Given the description of an element on the screen output the (x, y) to click on. 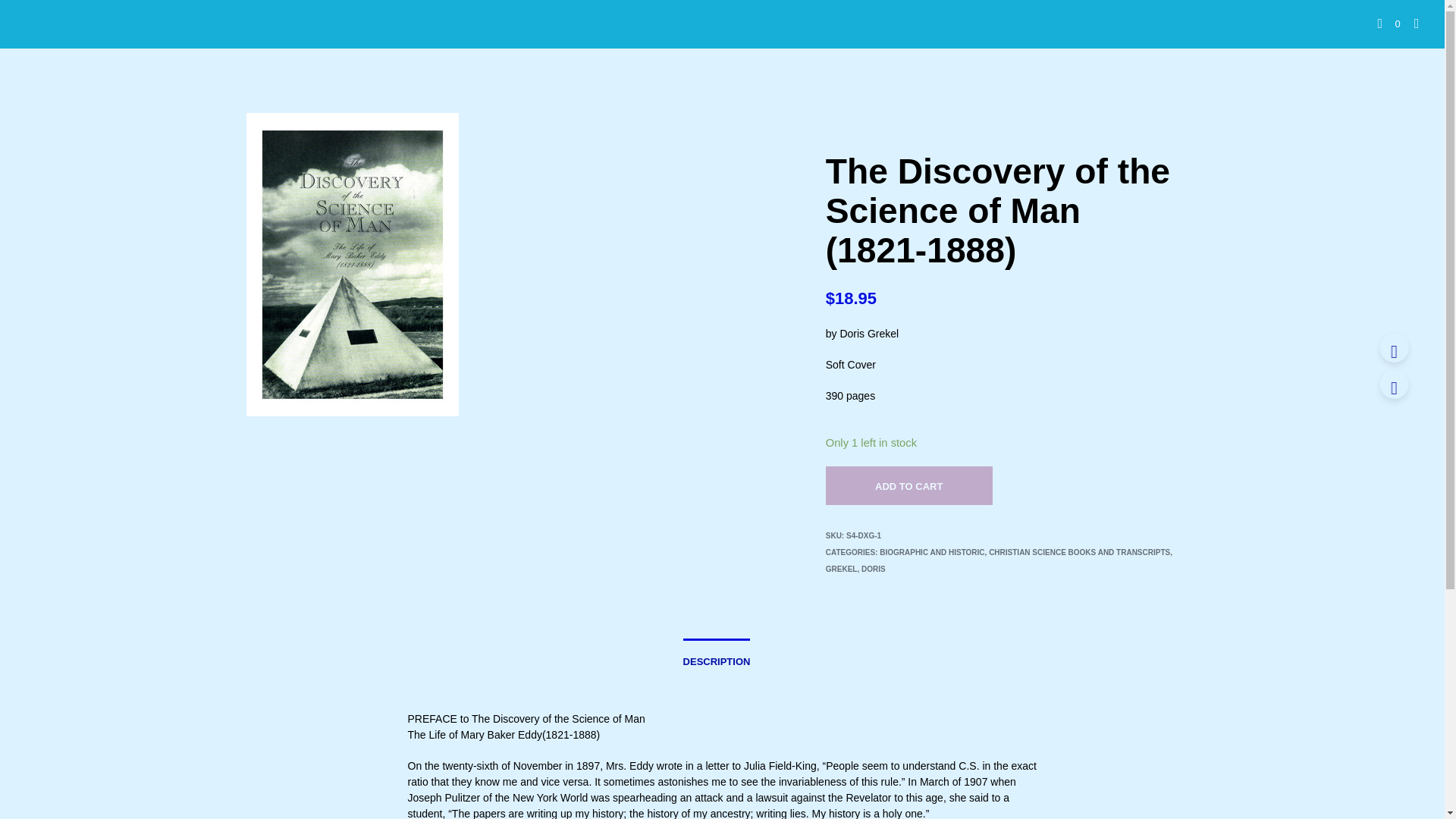
ADD TO CART (908, 485)
BIOGRAPHIC AND HISTORIC (931, 551)
DESCRIPTION (716, 656)
0 (1388, 23)
GREKEL, DORIS (855, 569)
CHRISTIAN SCIENCE BOOKS AND TRANSCRIPTS (1079, 551)
